Given the description of an element on the screen output the (x, y) to click on. 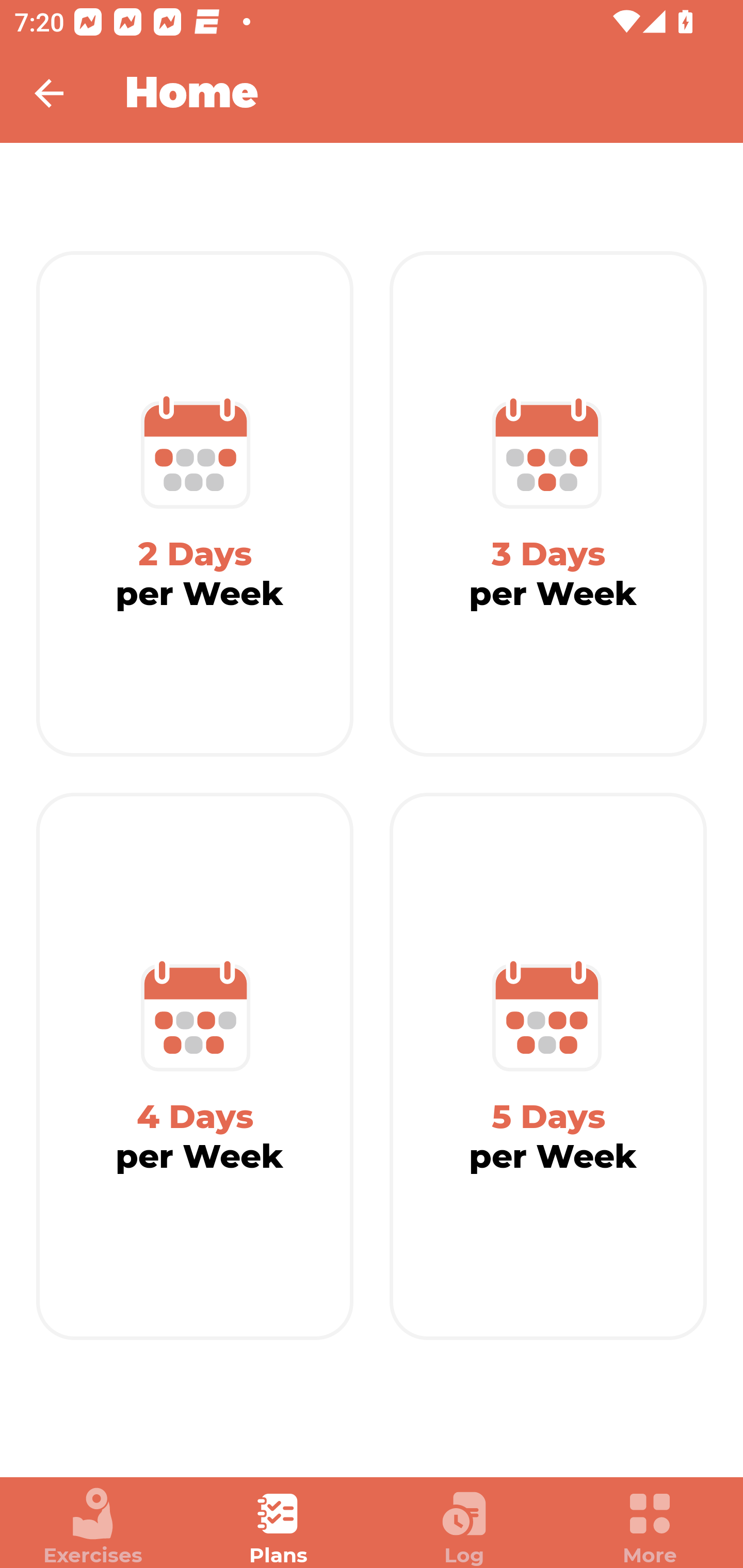
Back (62, 92)
2 Days
 per Week (194, 503)
3 Days
 per Week (547, 503)
4 Days
 per Week (194, 1066)
5 Days
 per Week (547, 1066)
Exercises (92, 1527)
Plans (278, 1527)
Log (464, 1527)
More (650, 1527)
